Given the description of an element on the screen output the (x, y) to click on. 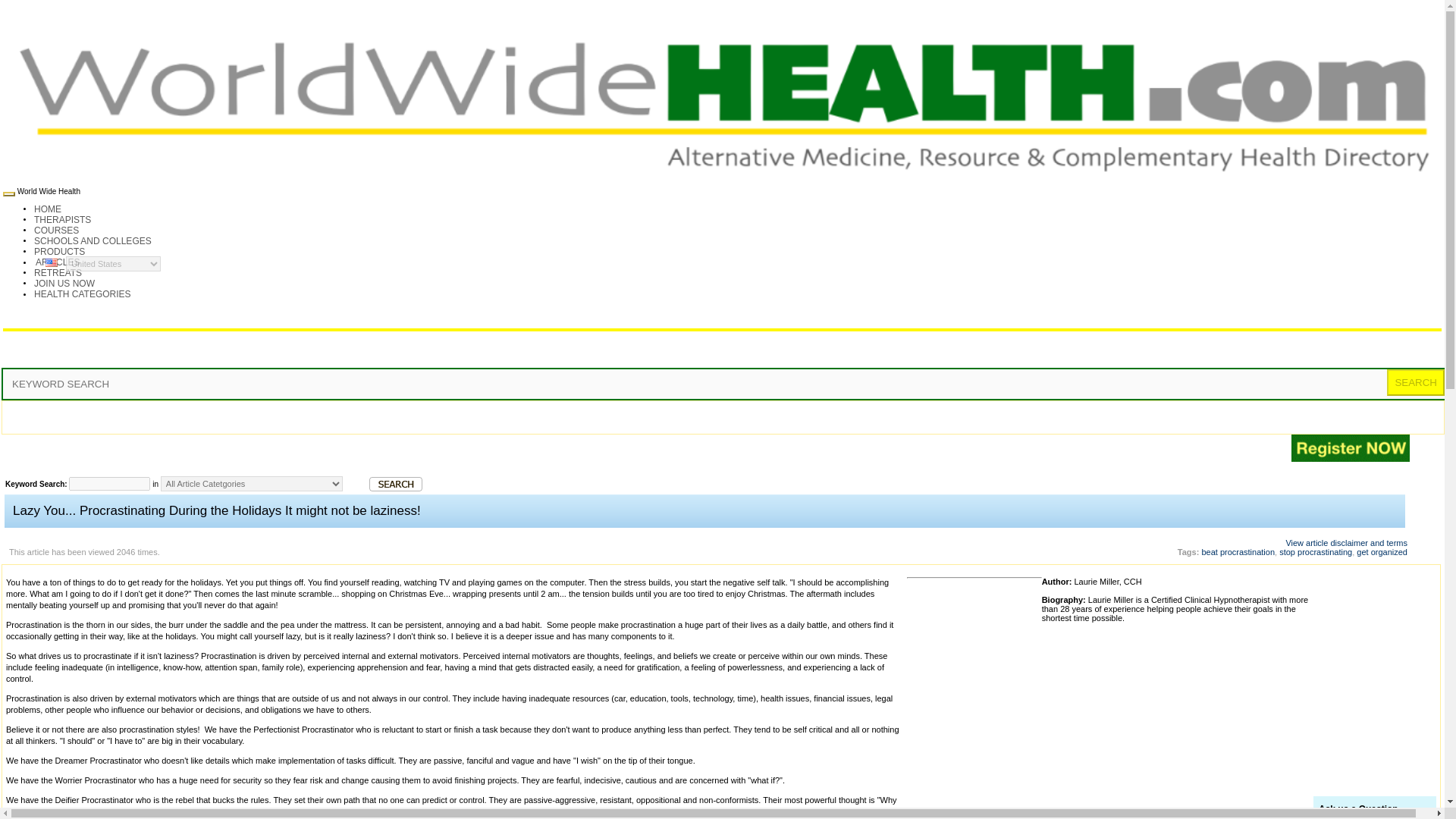
Schools Colleges (92, 241)
SEARCH (1415, 382)
View article disclaimer and terms (1346, 542)
Toggle navigation (8, 193)
COURSES (56, 230)
Login (1433, 438)
HOME (47, 209)
THERAPISTS (62, 219)
RETREATS (57, 272)
get organized (1381, 551)
SCHOOLS AND COLLEGES (92, 241)
beat procrastination (1238, 551)
ARTICLES (57, 262)
Health Products Courses (59, 251)
Join Worlwidehealth (64, 283)
